Given the description of an element on the screen output the (x, y) to click on. 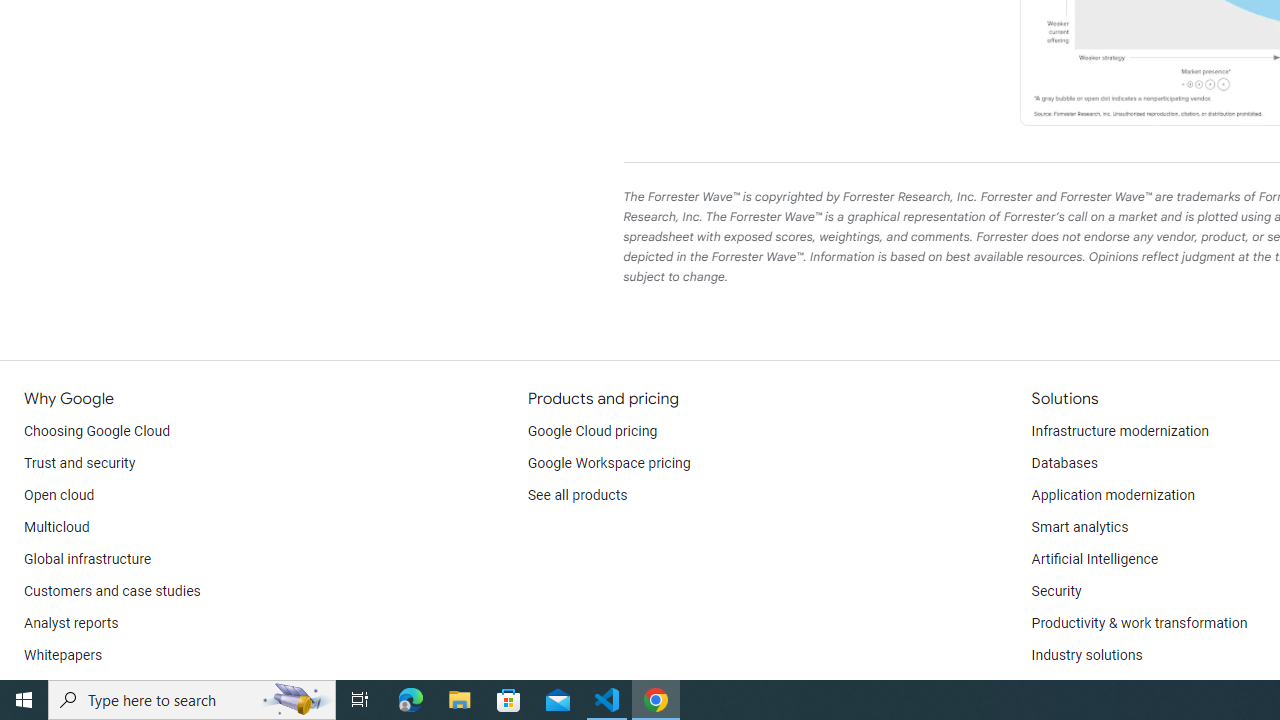
Databases (1064, 463)
Blog (38, 687)
Open cloud (59, 495)
DevOps solutions (1085, 687)
Choosing Google Cloud (97, 431)
Infrastructure modernization (1119, 431)
